Given the description of an element on the screen output the (x, y) to click on. 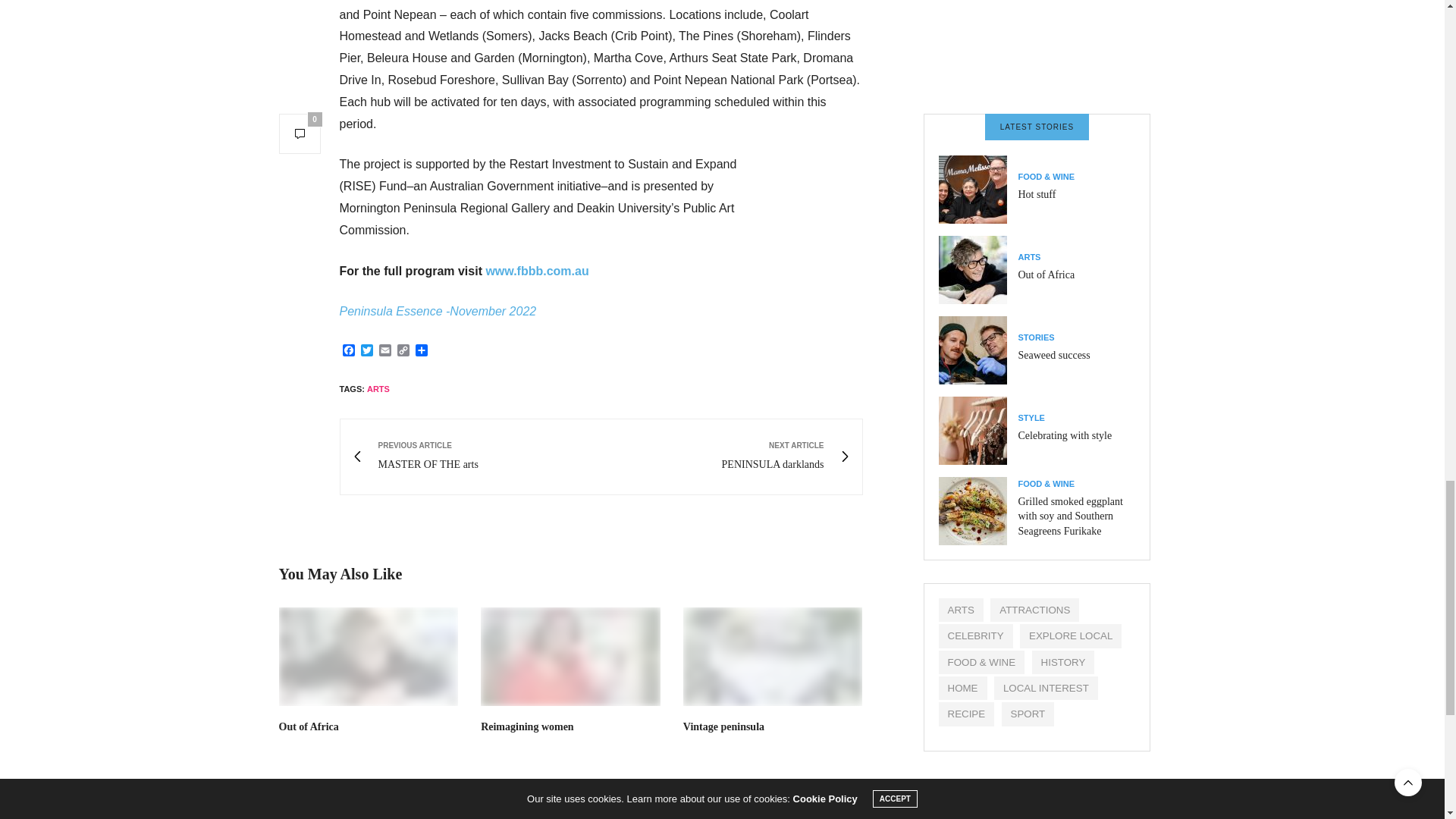
www.fbbb.com.au (536, 270)
Reimagining women (726, 457)
Email (526, 726)
Out of Africa (384, 350)
Email (368, 656)
Peninsula Essence -November 2022 (384, 350)
Twitter (438, 310)
Facebook (366, 350)
Out of Africa (348, 350)
